Given the description of an element on the screen output the (x, y) to click on. 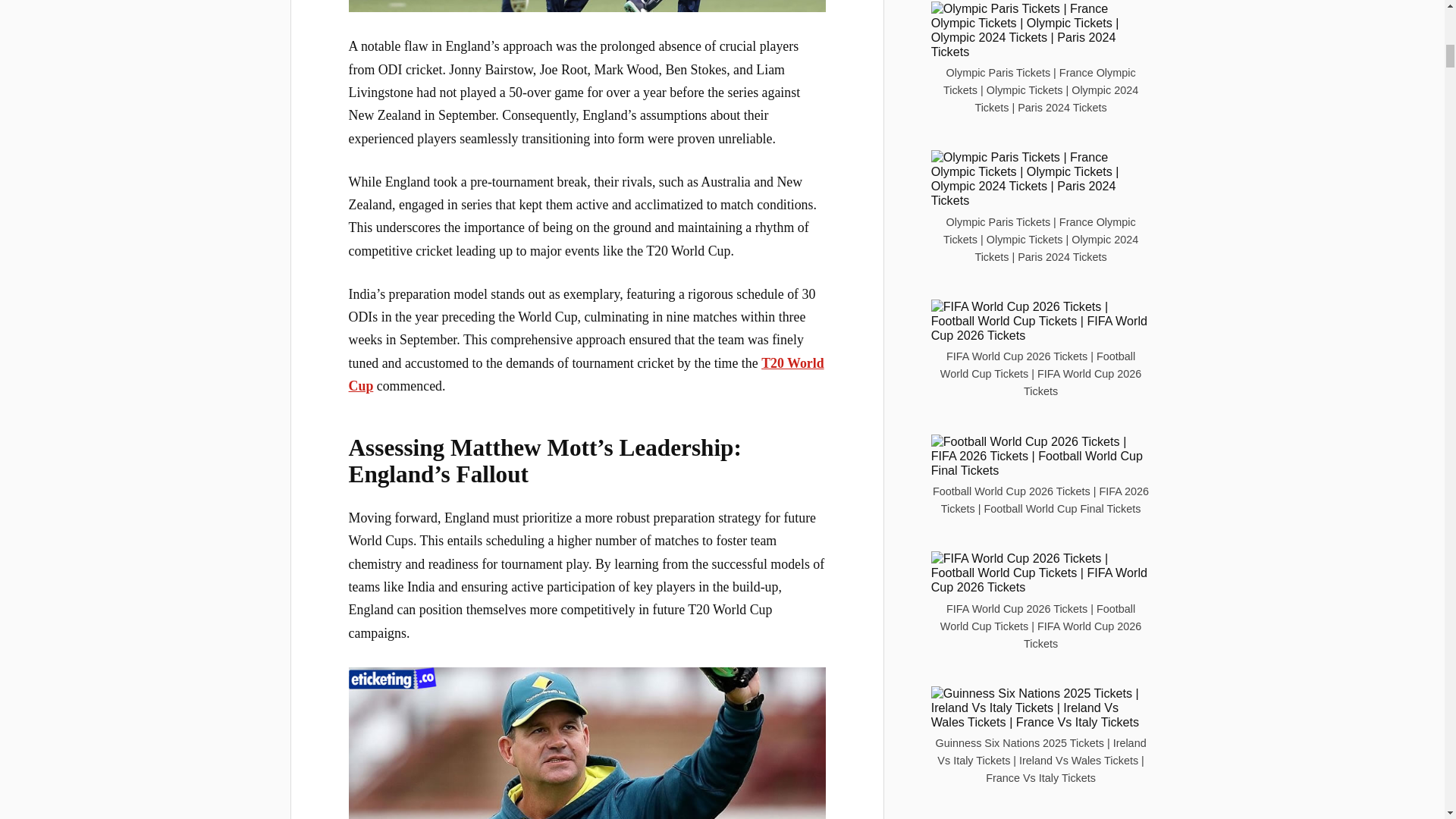
T20 World Cup (586, 374)
